Given the description of an element on the screen output the (x, y) to click on. 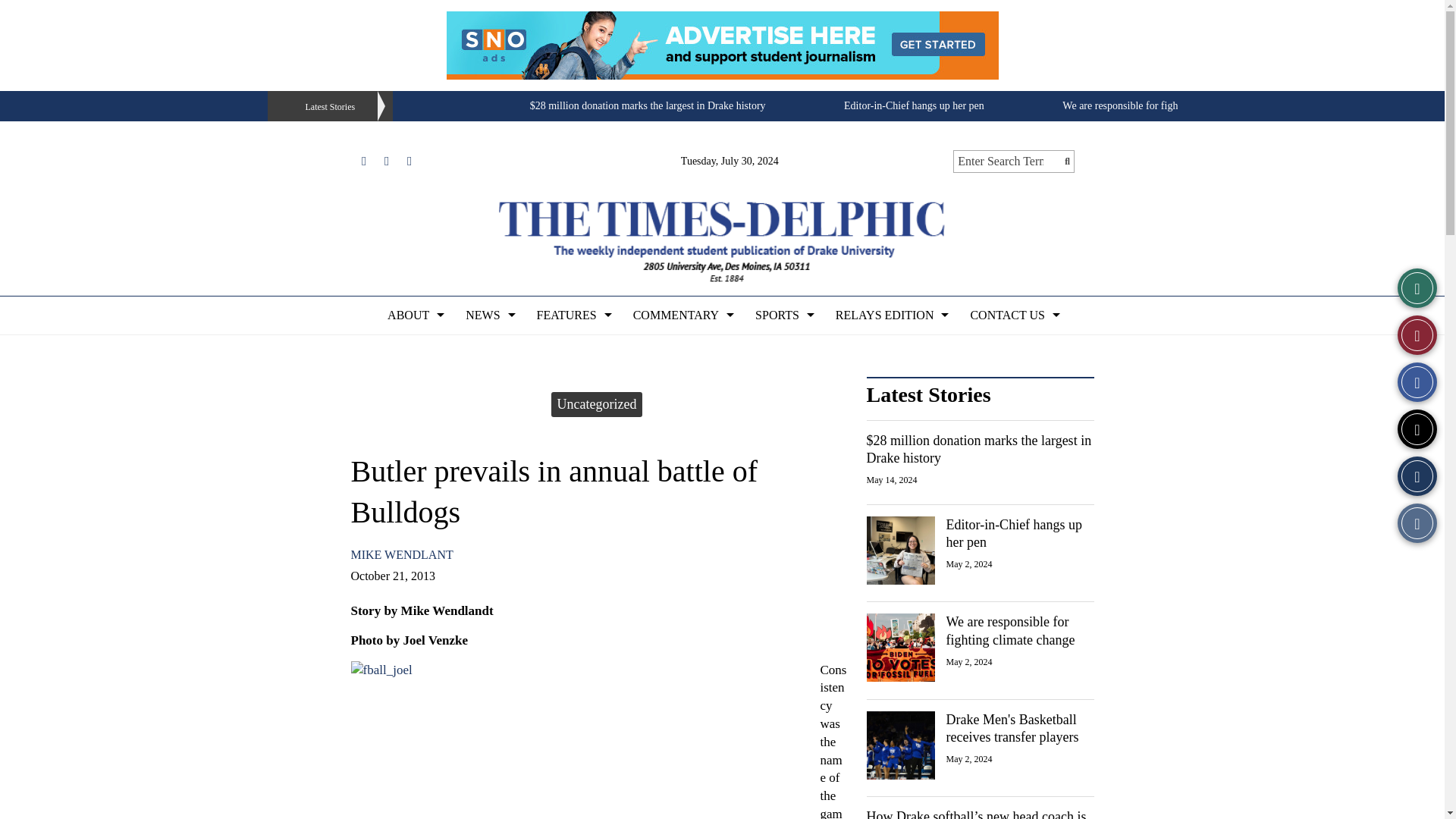
ABOUT (413, 315)
FEATURES (572, 315)
COMMENTARY (681, 315)
We are responsible for fighting climate change (1161, 105)
SPORTS (783, 315)
Editor-in-Chief hangs up her pen (914, 105)
NEWS (488, 315)
